Given the description of an element on the screen output the (x, y) to click on. 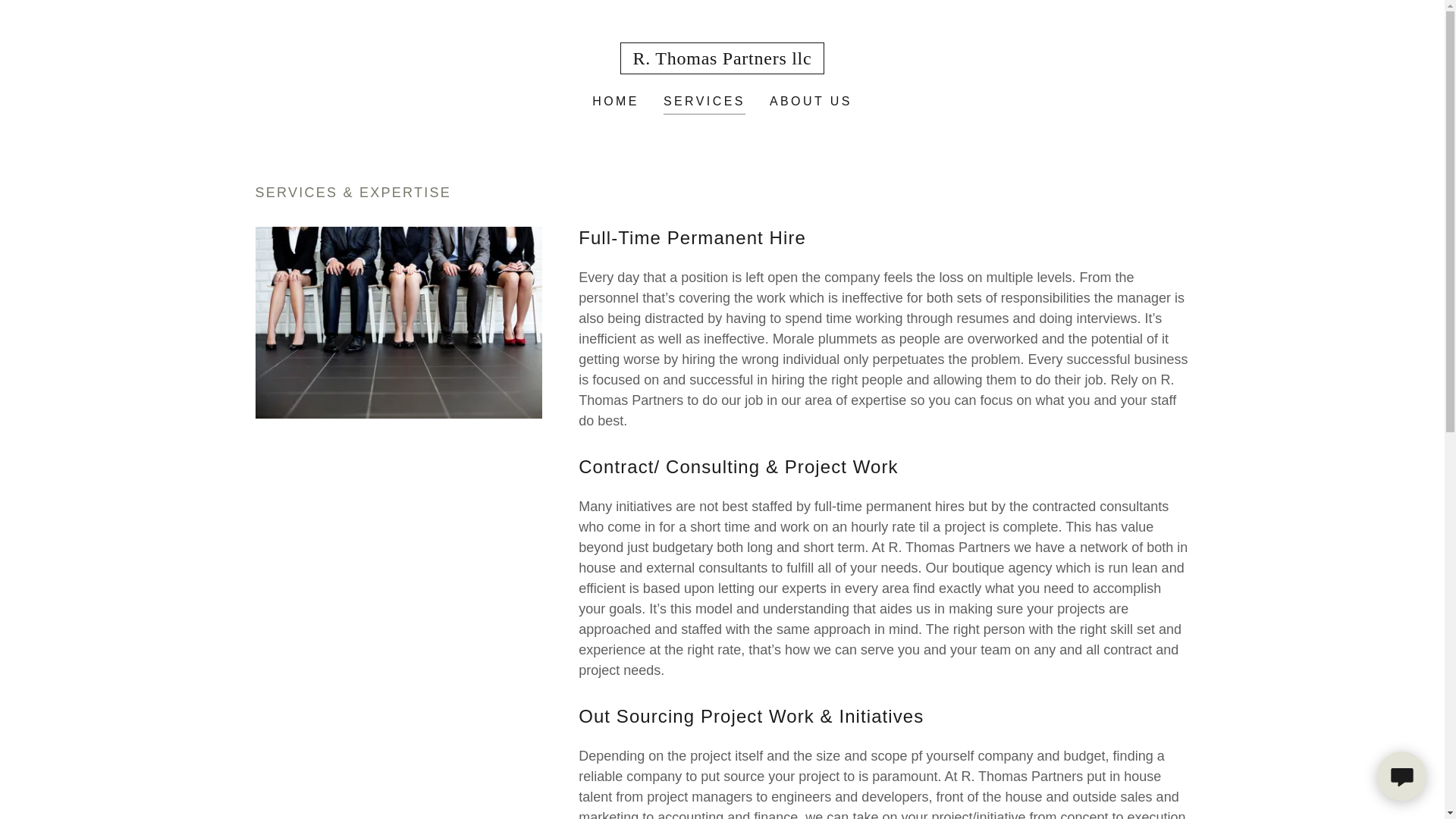
R. Thomas Partners llc (722, 59)
SERVICES (704, 103)
ABOUT US (811, 101)
HOME (615, 101)
R. Thomas Partners llc (722, 59)
